Given the description of an element on the screen output the (x, y) to click on. 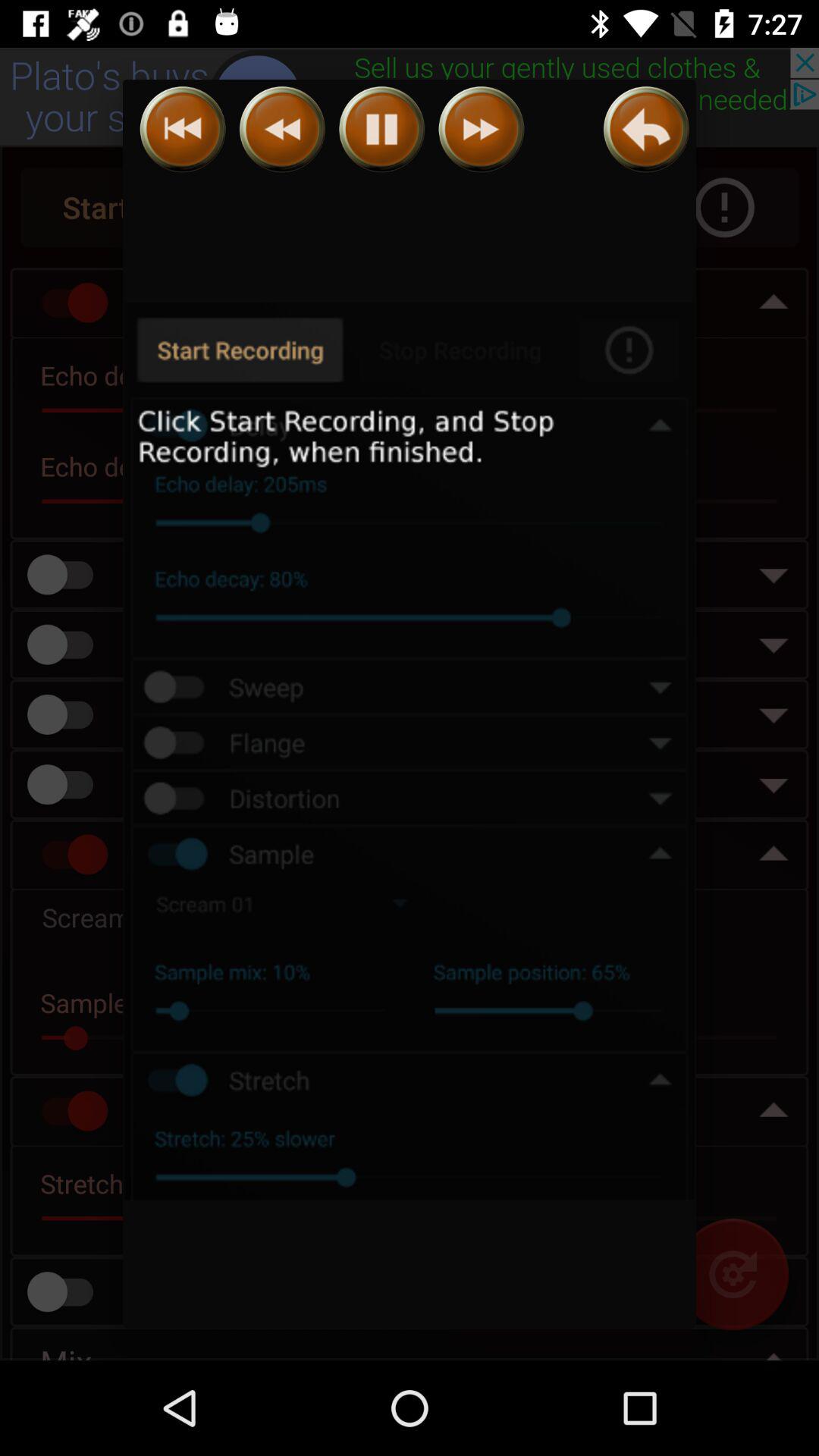
click icon at the center (409, 751)
